Given the description of an element on the screen output the (x, y) to click on. 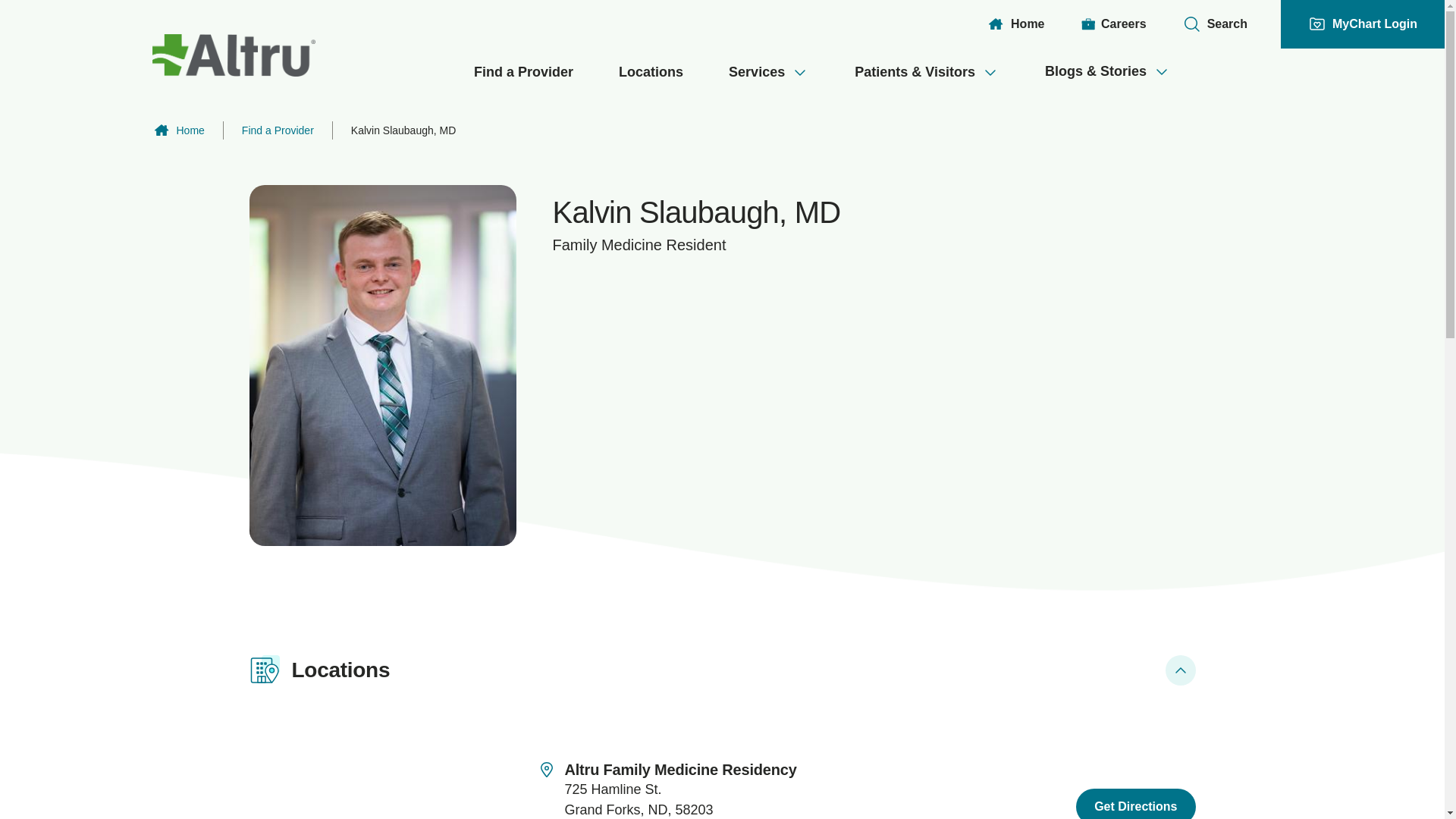
Find a Provider (523, 72)
Careers (1113, 24)
Services (768, 72)
Locations (651, 72)
Home (1015, 24)
Search (1214, 24)
